Given the description of an element on the screen output the (x, y) to click on. 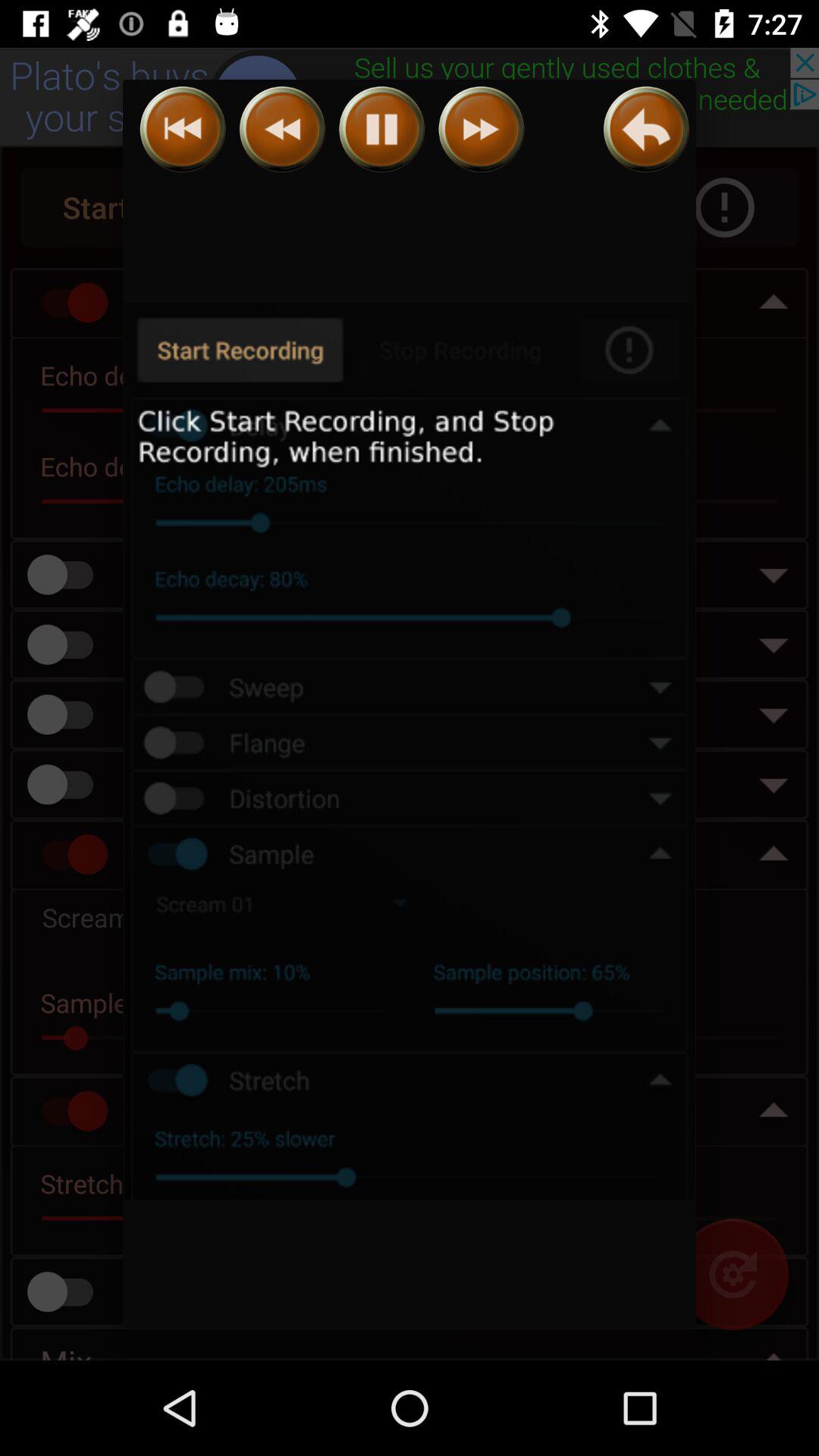
slower (282, 129)
